Given the description of an element on the screen output the (x, y) to click on. 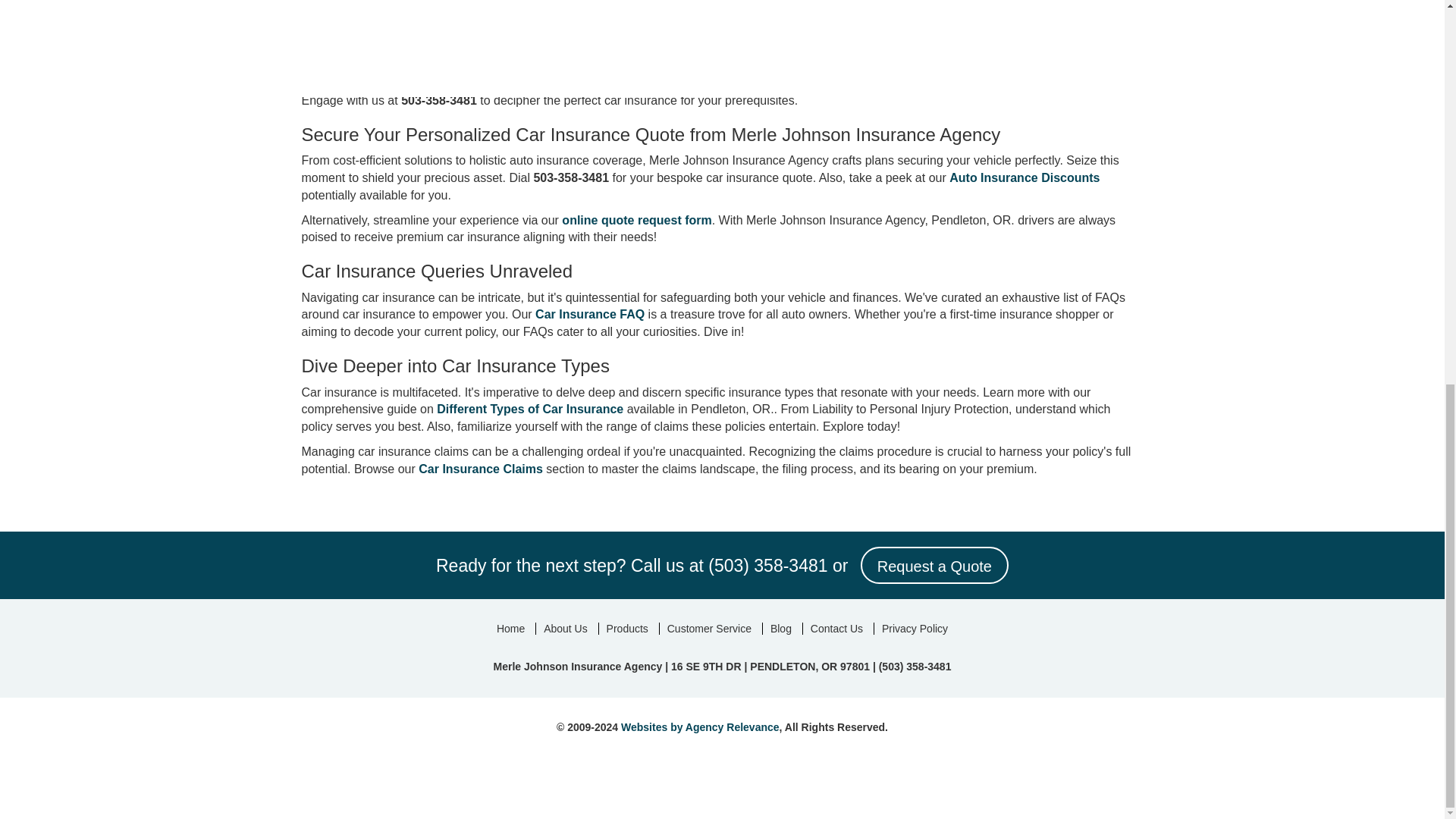
Websites by Agency Relevance (699, 727)
Blog (780, 628)
Car Insurance Claims (481, 468)
Car Insurance FAQ (590, 314)
Request a Quote (934, 565)
Auto Insurance Discounts (1024, 177)
Privacy Policy (914, 628)
Customer Service (708, 628)
Home (510, 628)
Products (627, 628)
